Given the description of an element on the screen output the (x, y) to click on. 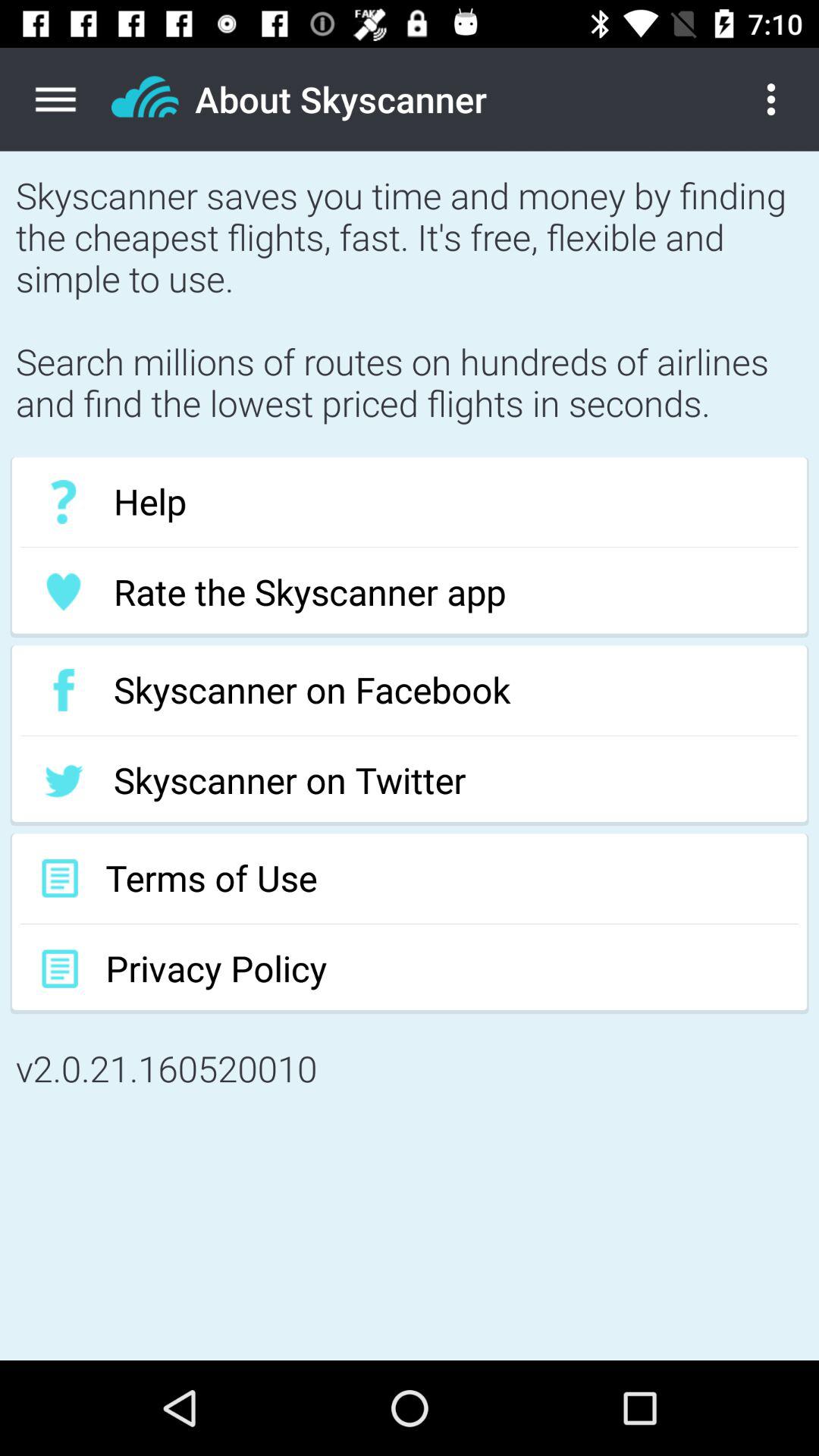
turn off icon next to the about skyscanner app (783, 99)
